Given the description of an element on the screen output the (x, y) to click on. 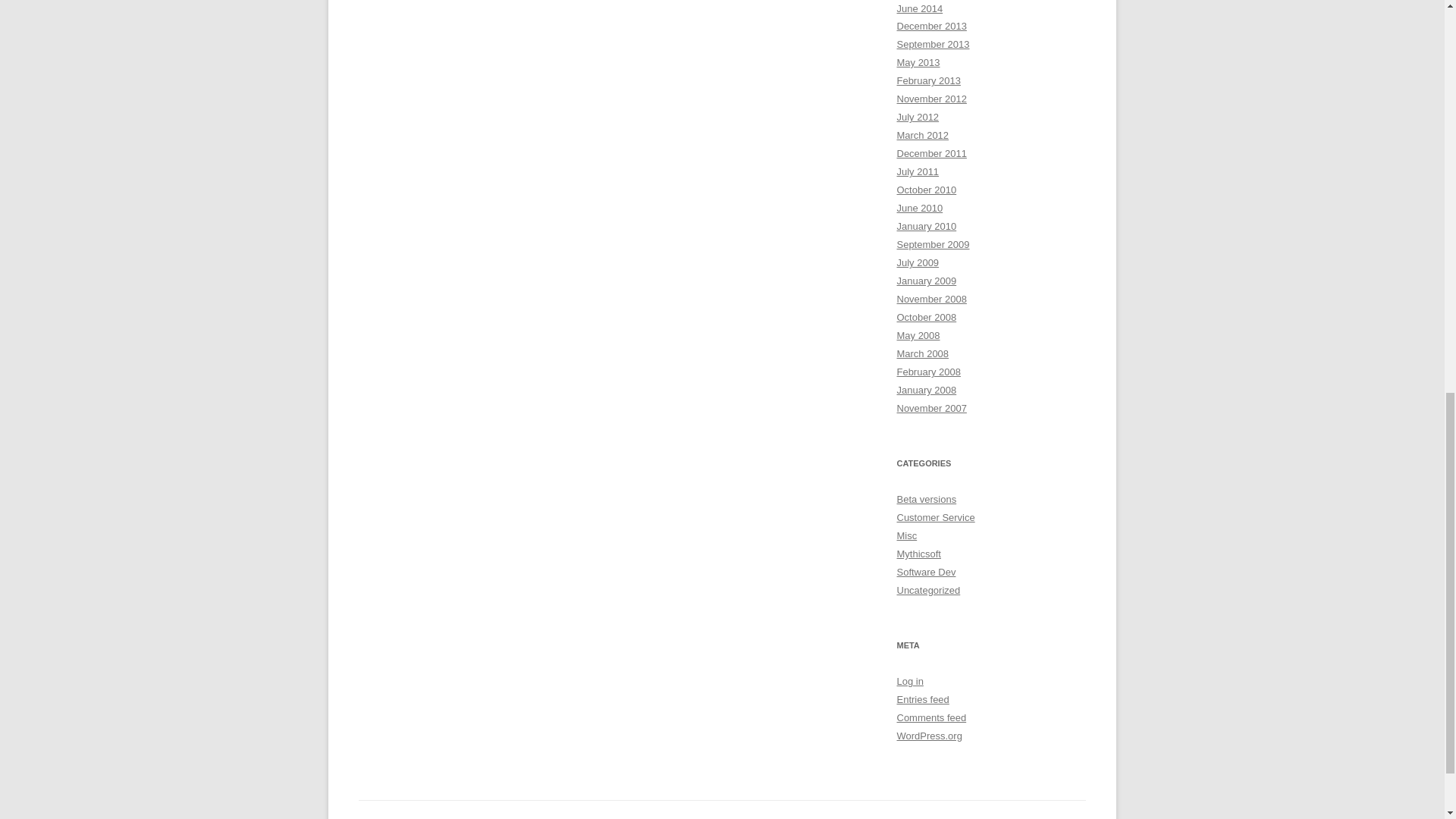
December 2013 (931, 25)
June 2014 (919, 7)
